Given the description of an element on the screen output the (x, y) to click on. 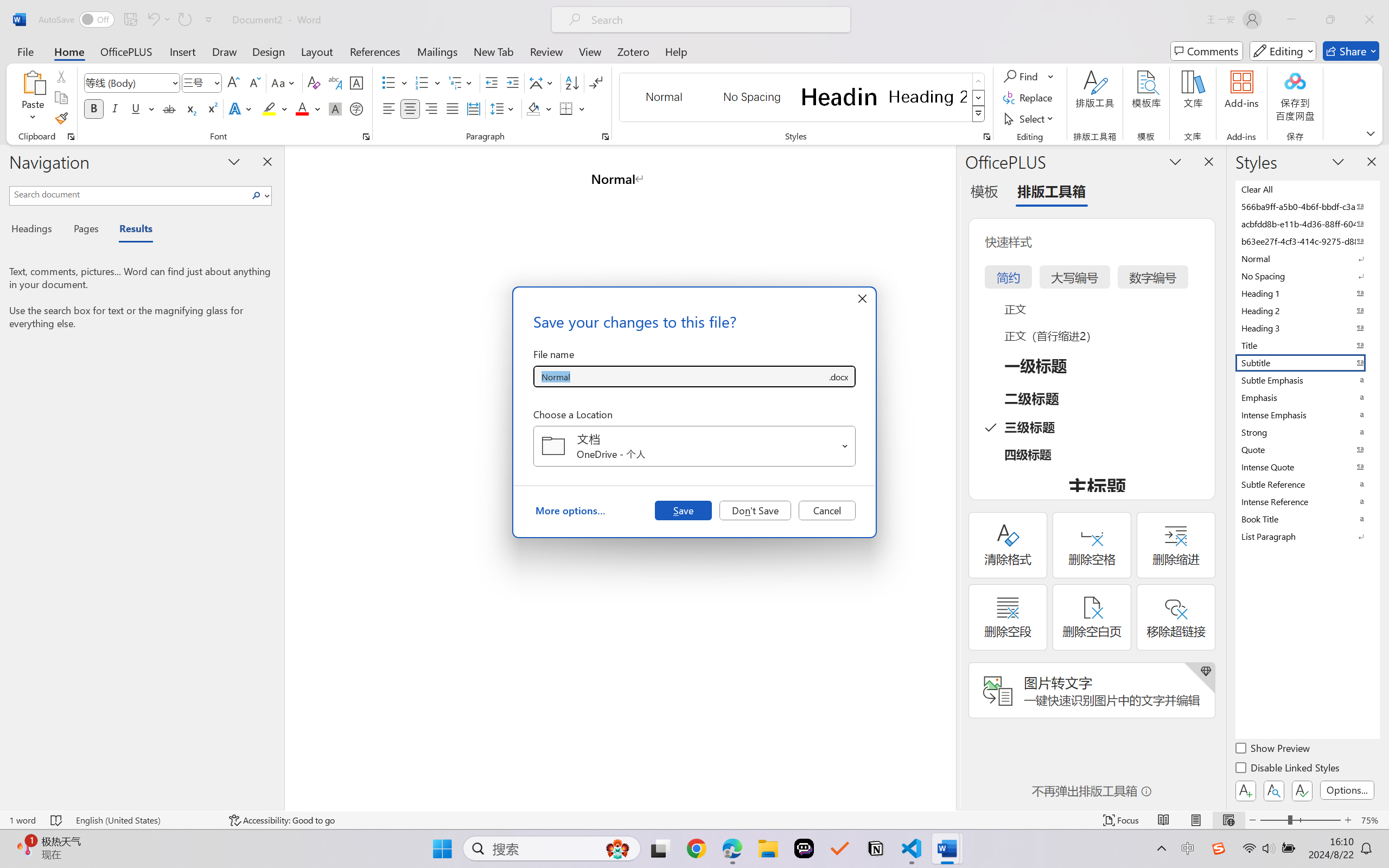
Save as type (837, 376)
Row up (978, 81)
Search document (128, 193)
Zoom (1300, 819)
Class: MsoCommandBar (694, 819)
Underline (135, 108)
Paragraph... (605, 136)
Numbering (428, 82)
Quick Access Toolbar (127, 19)
Asian Layout (542, 82)
Font Color (308, 108)
